Given the description of an element on the screen output the (x, y) to click on. 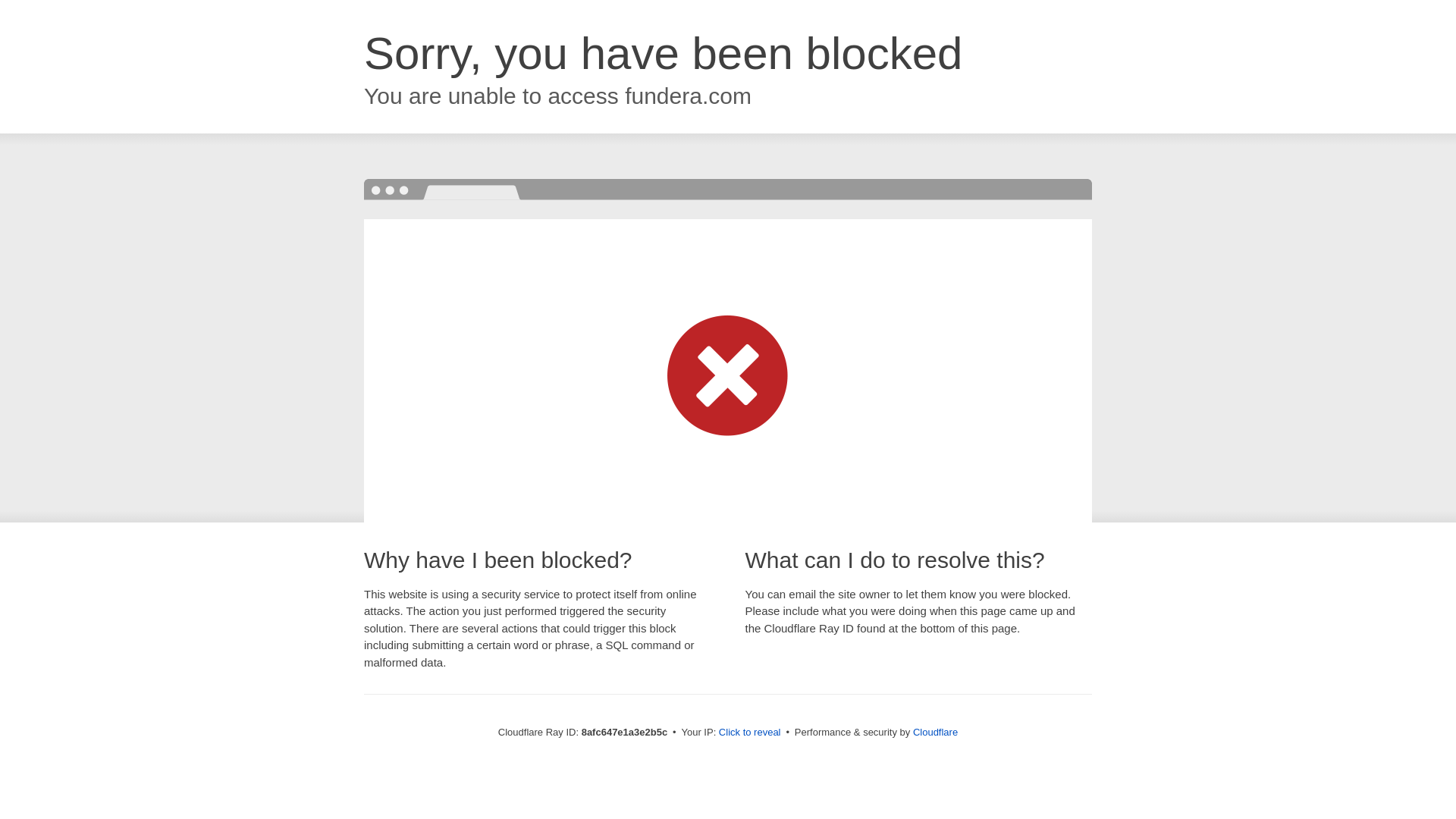
Click to reveal (749, 732)
Cloudflare (935, 731)
